Given the description of an element on the screen output the (x, y) to click on. 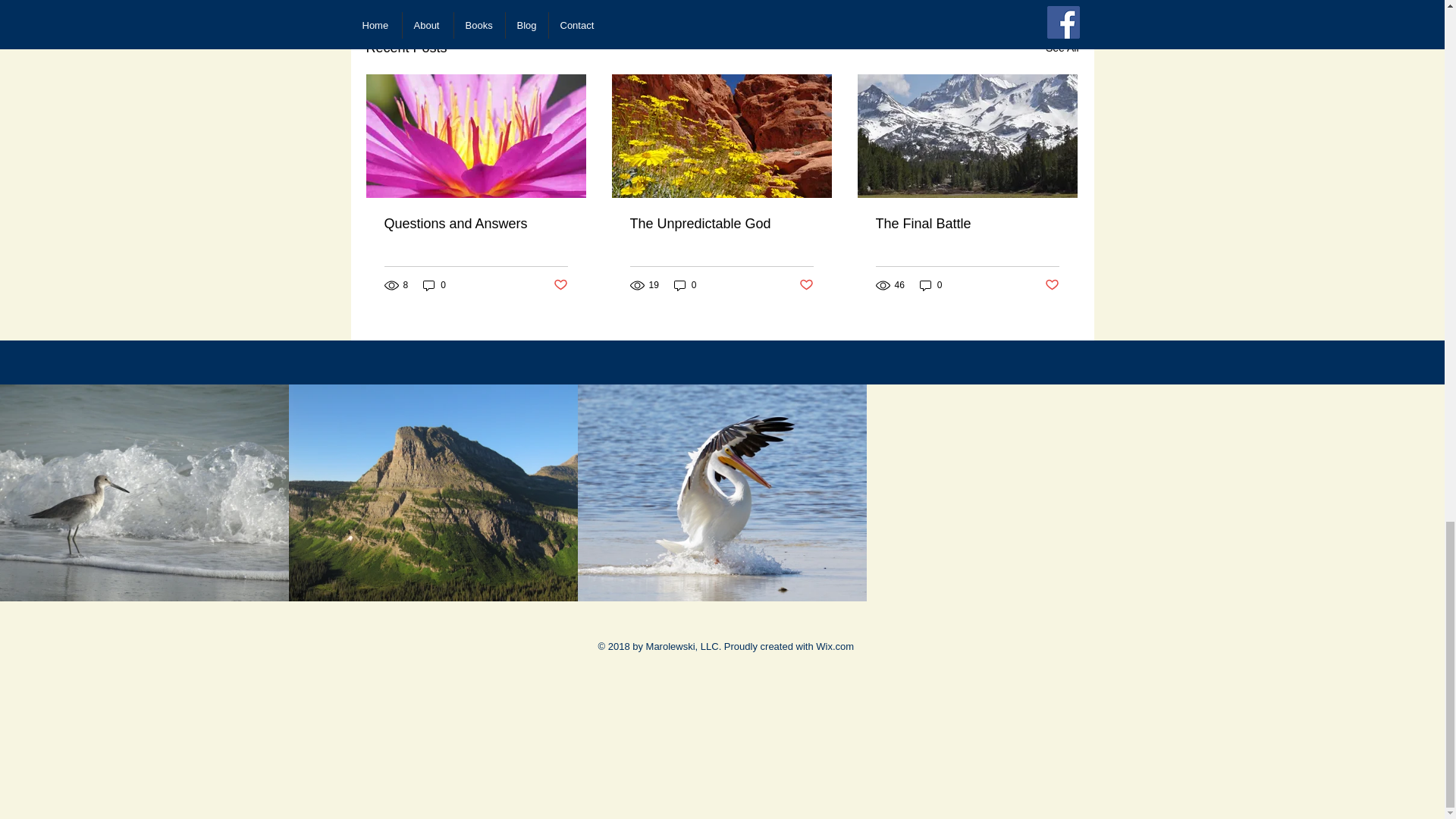
See All (1061, 47)
Questions and Answers (475, 223)
0 (434, 285)
The Final Battle (966, 223)
The Unpredictable God (720, 223)
0 (685, 285)
Post not marked as liked (806, 285)
Post not marked as liked (560, 285)
